Given the description of an element on the screen output the (x, y) to click on. 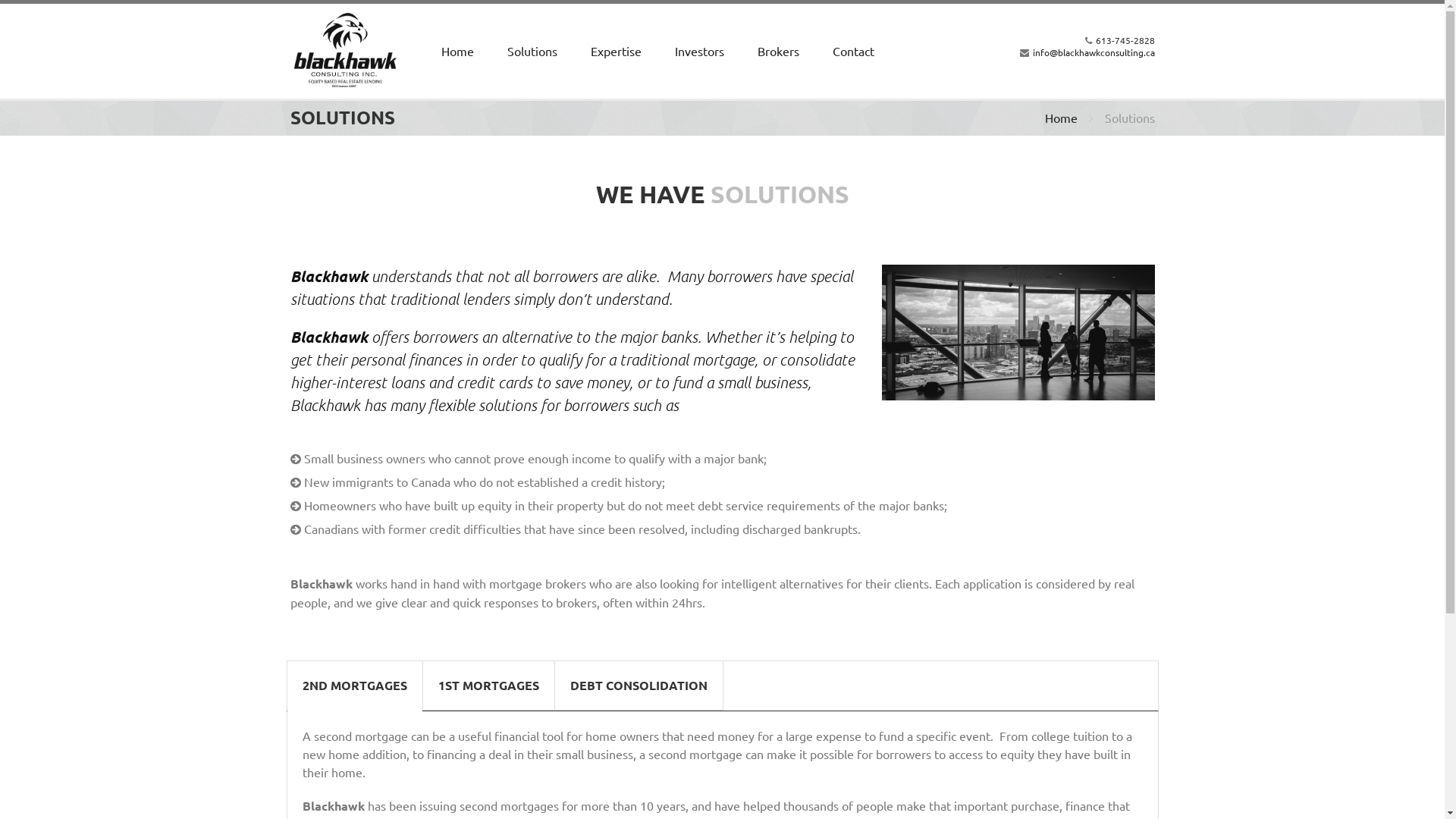
Home Element type: text (1060, 117)
Brokers Element type: text (778, 51)
Investors Element type: text (699, 51)
Home Element type: text (457, 51)
Expertise Element type: text (615, 51)
Solutions Element type: text (532, 51)
info@blackhawkconsulting.ca Element type: text (1093, 52)
Contact Element type: text (853, 51)
